Given the description of an element on the screen output the (x, y) to click on. 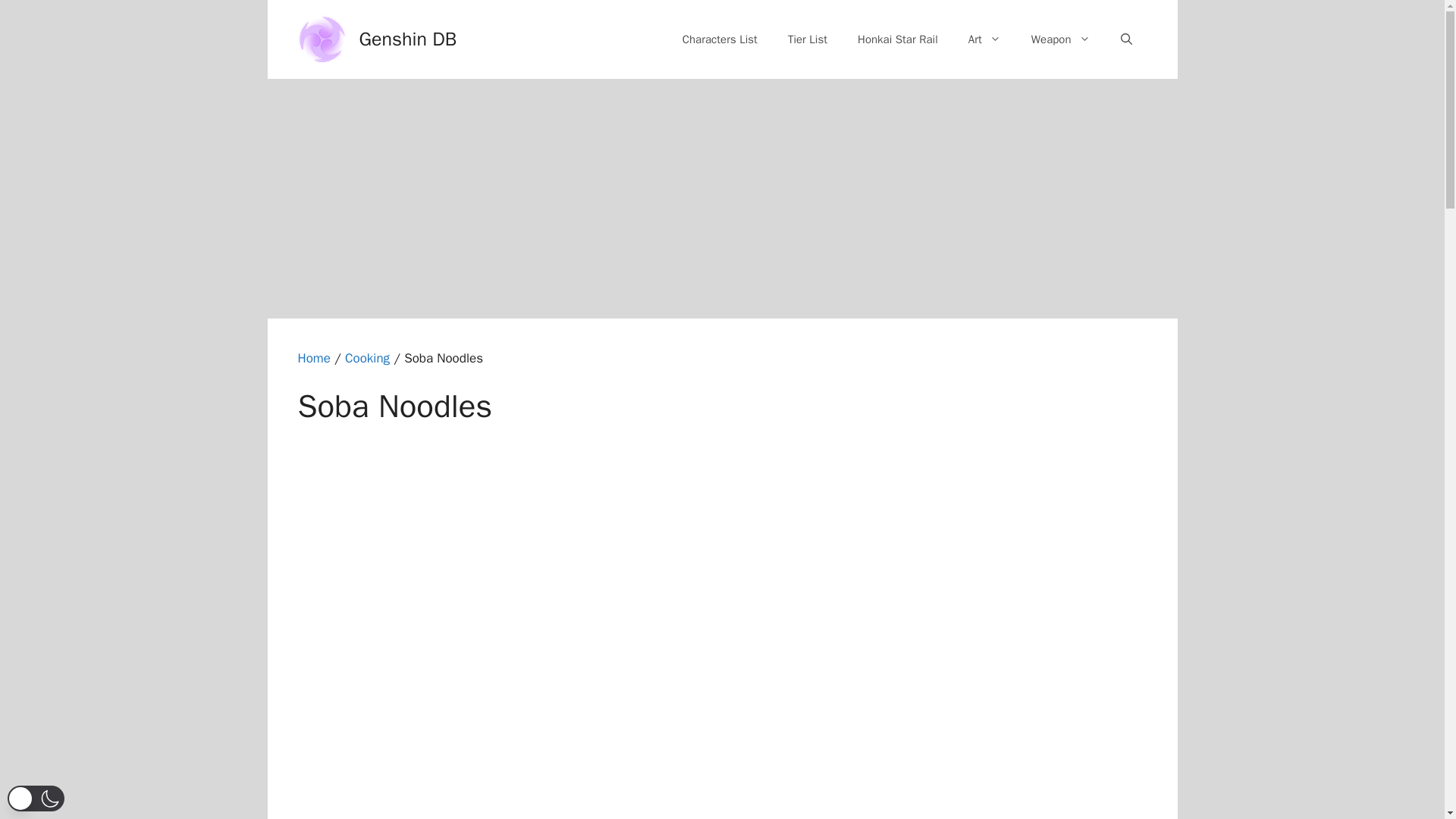
Tier List (808, 39)
Home (313, 358)
Art (984, 39)
Cooking (367, 358)
Advertisement (721, 200)
Weapon (1060, 39)
Genshin DB (408, 38)
Honkai Star Rail (898, 39)
Characters List (719, 39)
